Given the description of an element on the screen output the (x, y) to click on. 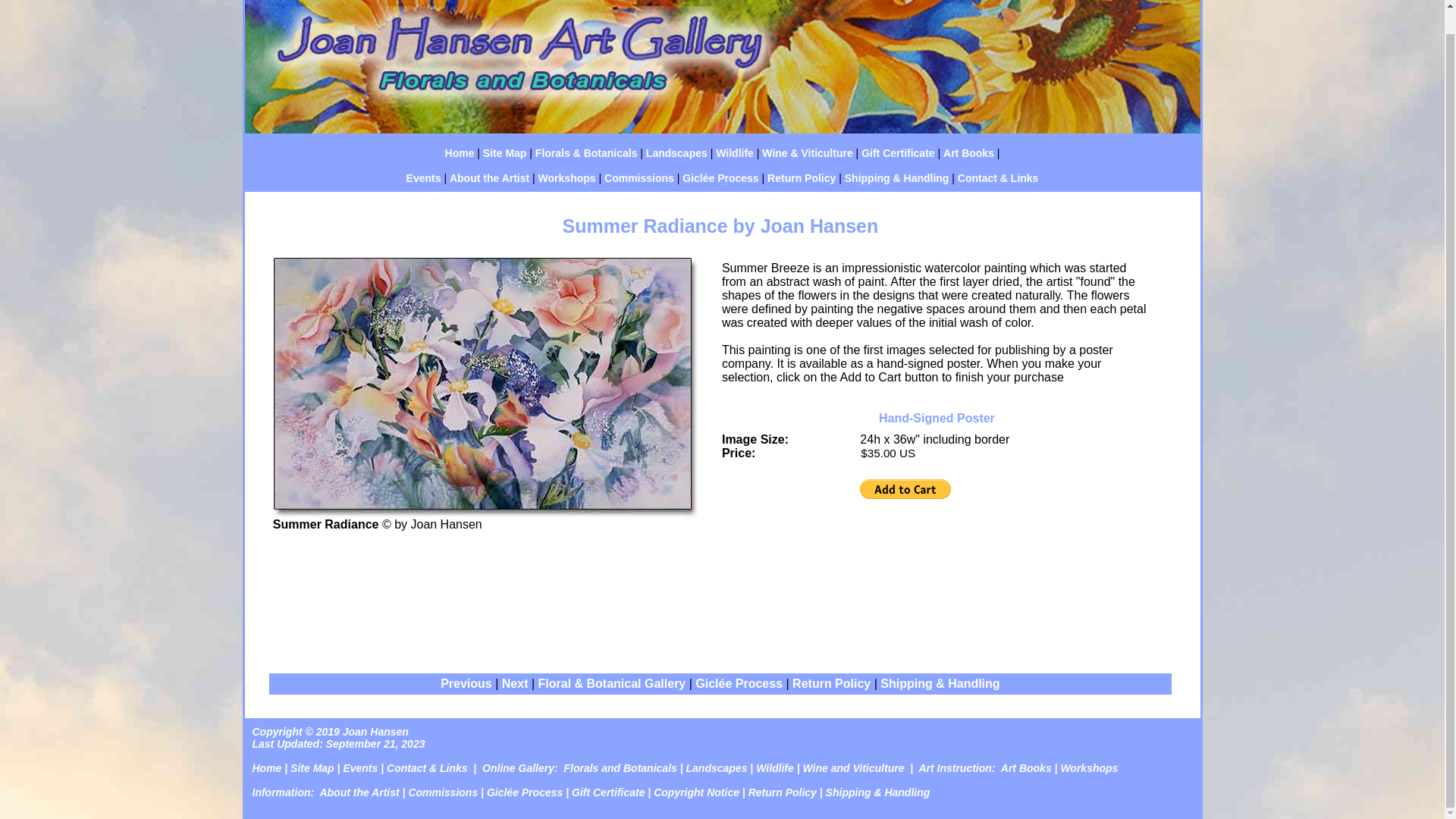
Events (423, 177)
Workshops (566, 177)
Commissions (442, 792)
About the Artist (489, 177)
Wildlife (735, 152)
Return Policy (831, 683)
Gift Certificate (608, 792)
Copyright Notice (696, 792)
Site Map (505, 152)
Home (266, 767)
